Given the description of an element on the screen output the (x, y) to click on. 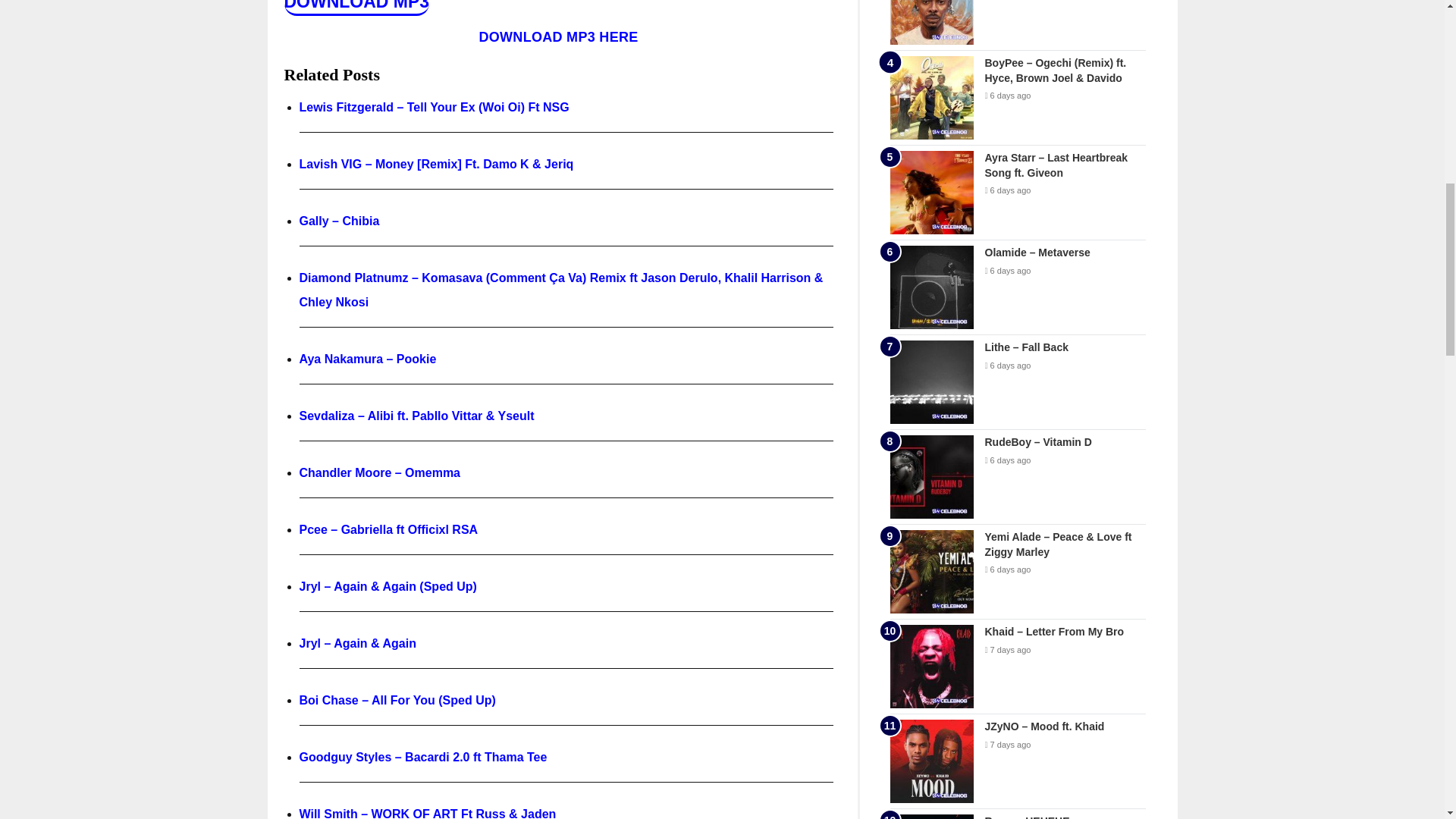
DOWNLOAD MP3 (356, 5)
DOWNLOAD MP3 HERE (558, 37)
